Given the description of an element on the screen output the (x, y) to click on. 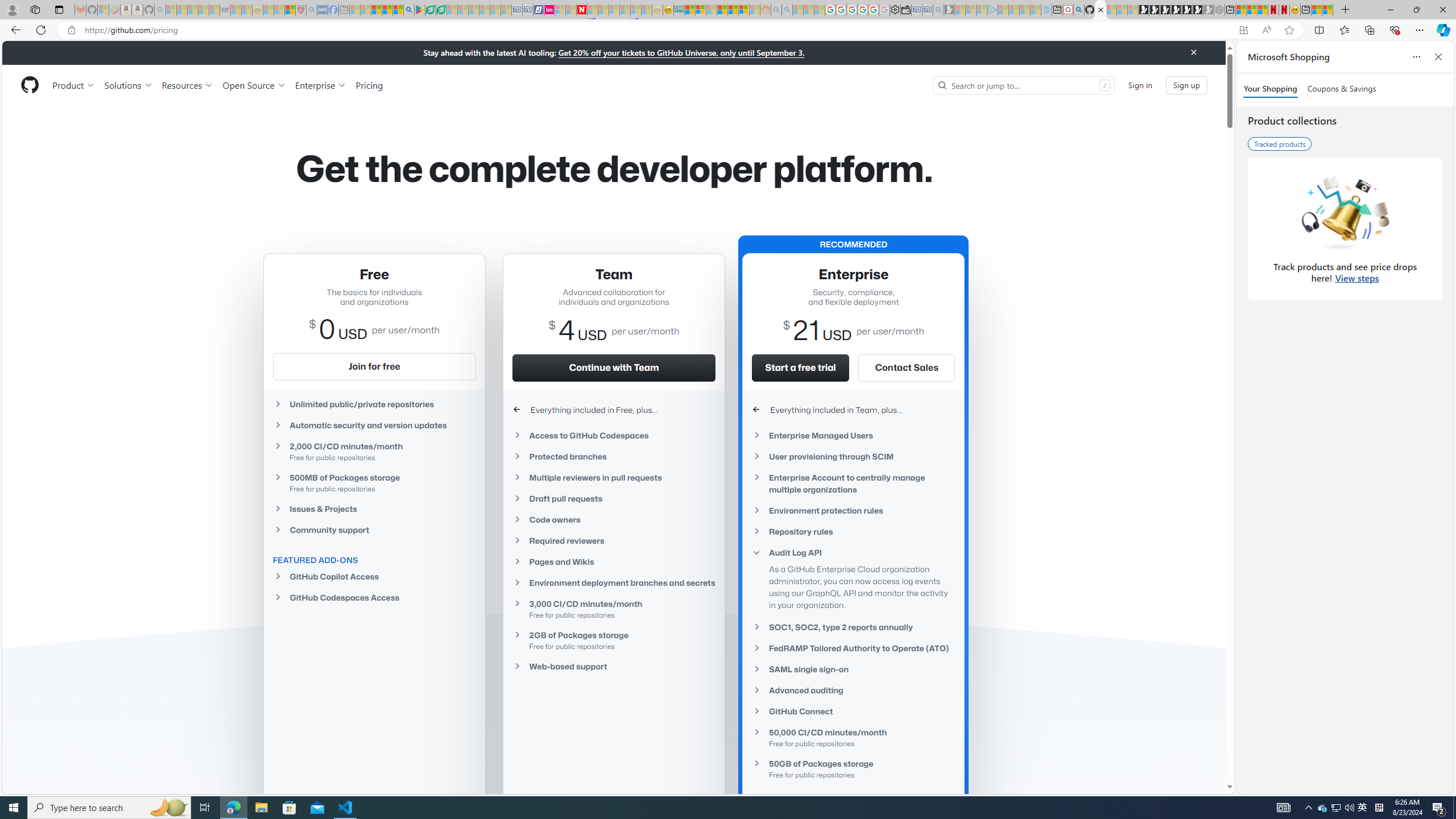
FedRAMP Tailored Authority to Operate (ATO) (853, 648)
500MB of Packages storageFree for public repositories (374, 482)
Resources (187, 84)
Latest Politics News & Archive | Newsweek.com (582, 9)
2,000 CI/CD minutes/monthFree for public repositories (374, 450)
SOC1, SOC2, type 2 reports annually (853, 626)
User provisioning through SCIM (853, 456)
